Given the description of an element on the screen output the (x, y) to click on. 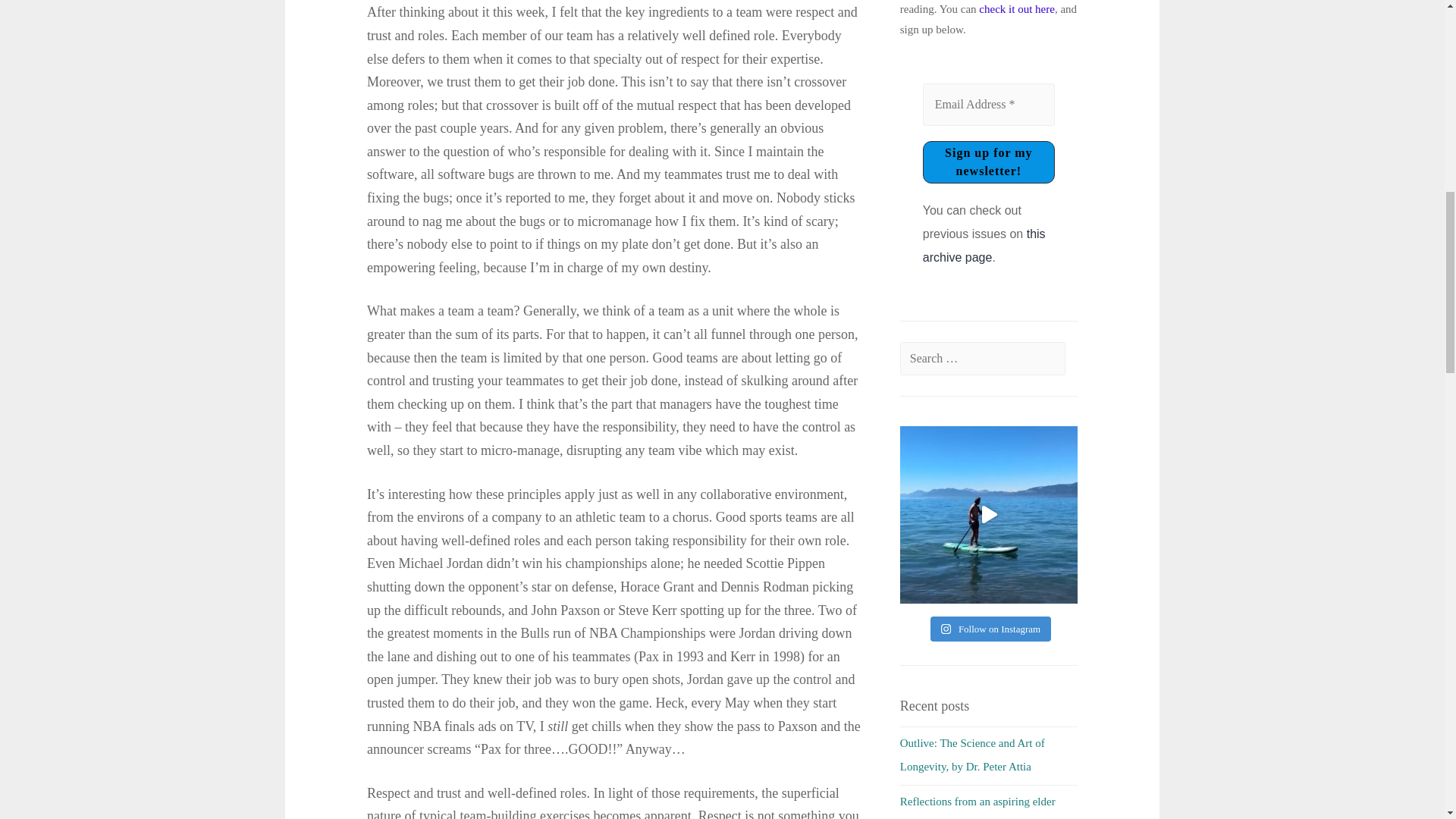
Email Address (988, 104)
Follow on Instagram (990, 629)
check it out here (1016, 9)
Sign up for my newsletter! (988, 161)
Sign up for my newsletter! (988, 161)
Reflections from an aspiring elder (977, 801)
this archive page (984, 245)
